Given the description of an element on the screen output the (x, y) to click on. 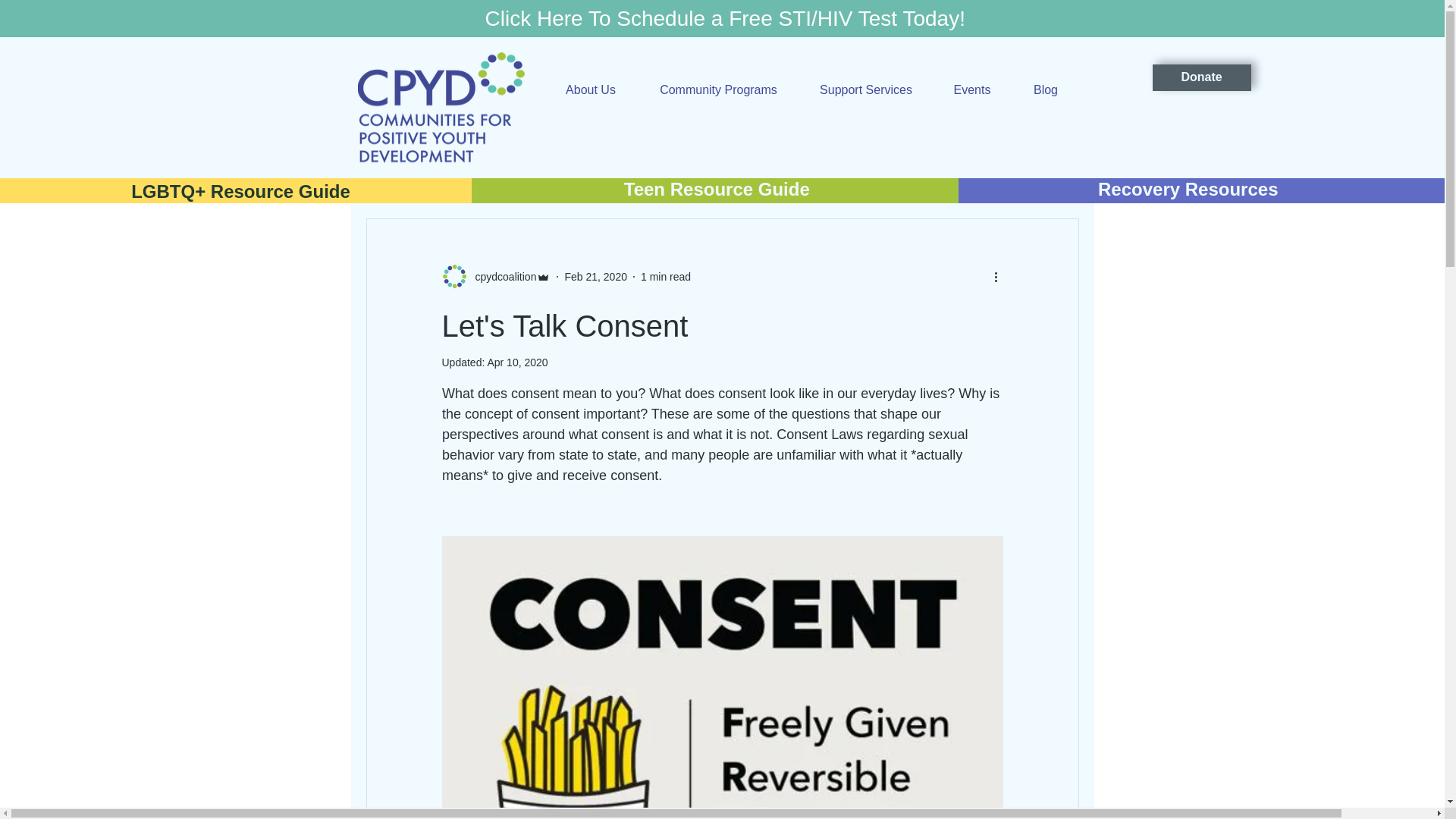
Feb 21, 2020 (595, 276)
Events (971, 89)
Teen Resource Guide (716, 189)
cpydcoalition (500, 277)
Support Services (866, 89)
About Us (590, 89)
1 min read (665, 276)
Community Programs (719, 89)
Donate (1201, 77)
Recovery Resources (1187, 189)
